Given the description of an element on the screen output the (x, y) to click on. 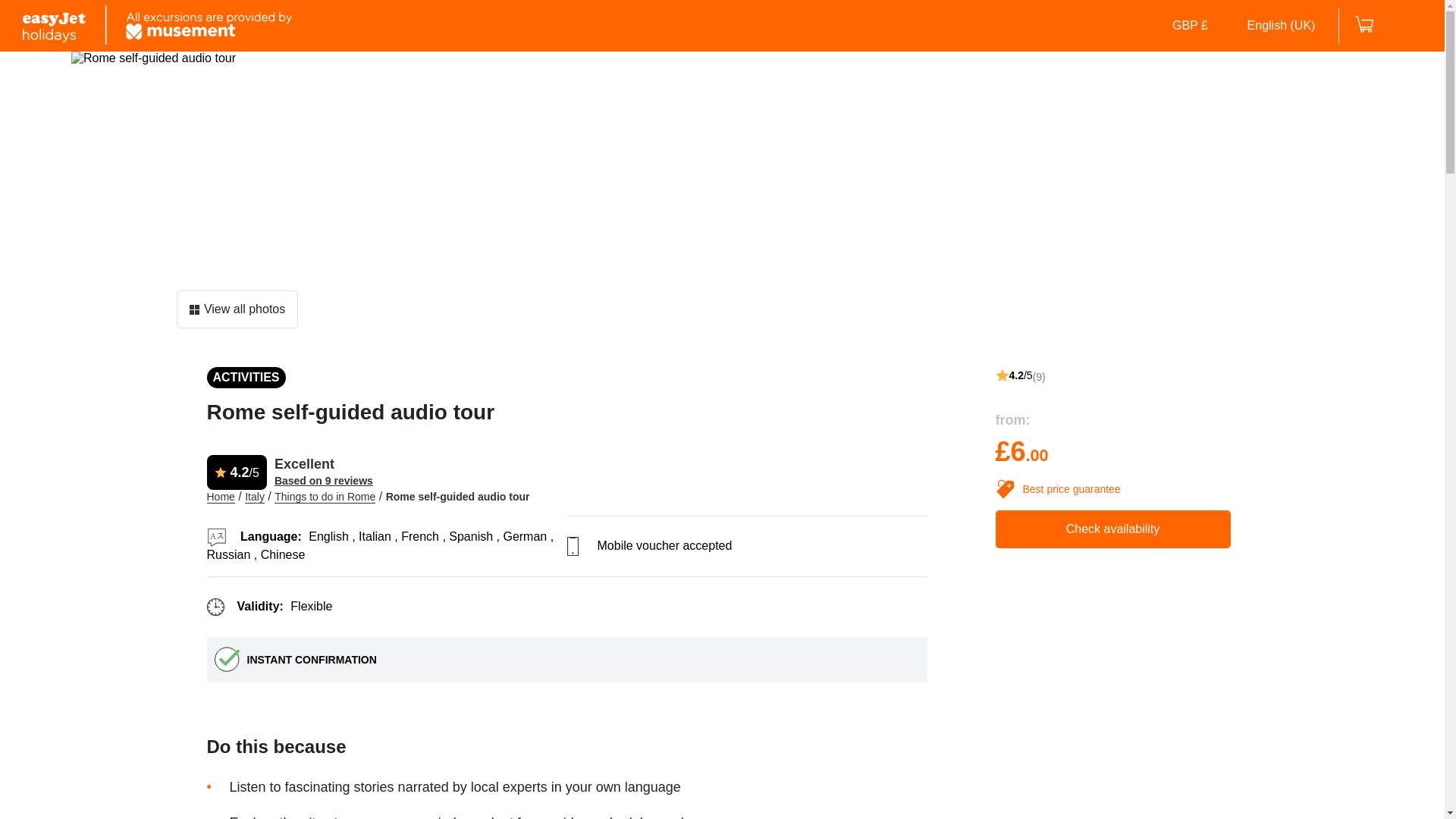
Home (220, 496)
Based on 9 reviews (323, 480)
Italy (254, 496)
Check availability (1112, 528)
View all photos (237, 309)
Things to do in Rome (325, 496)
